Given the description of an element on the screen output the (x, y) to click on. 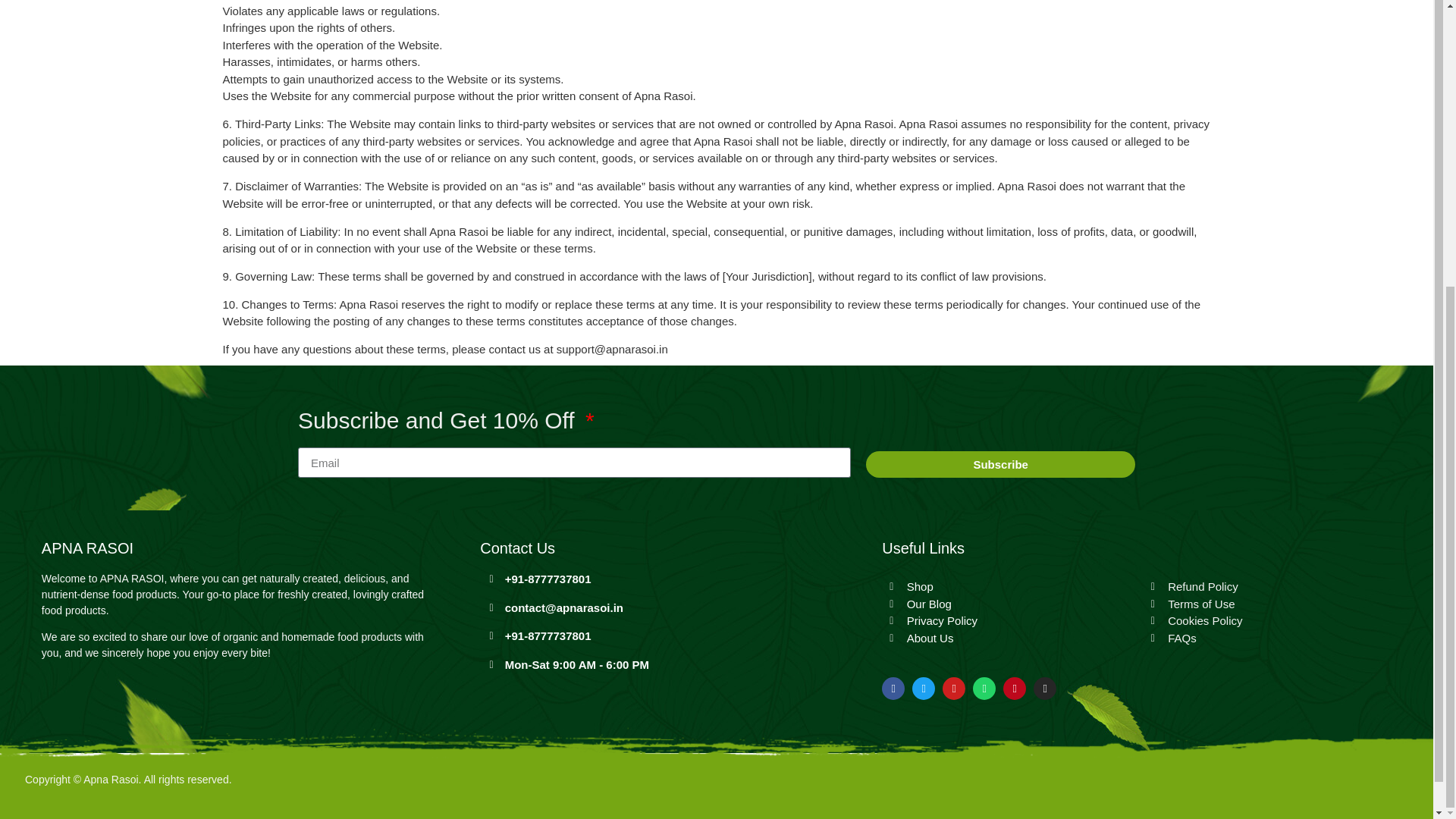
Subscribe (1000, 464)
Terms of Use (1273, 604)
payment (983, 786)
Our Blog (1012, 604)
Cookies Policy (1273, 620)
Privacy Policy (1012, 620)
Refund Policy (1273, 587)
